Given the description of an element on the screen output the (x, y) to click on. 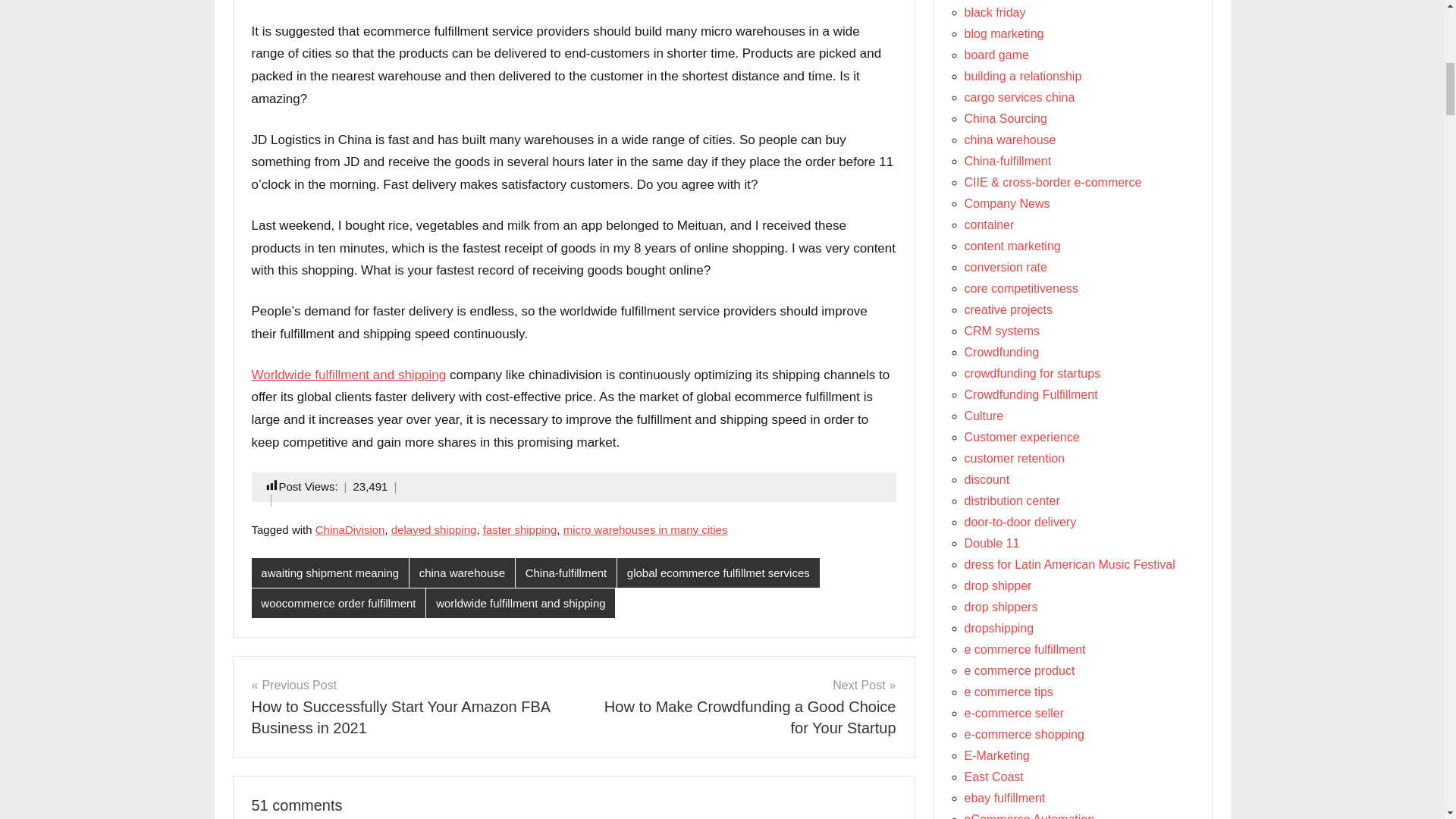
ChinaDivision (350, 529)
woocommerce order fulfillment (338, 603)
worldwide fulfillment and shipping (520, 603)
global ecommerce fulfillmet services (718, 572)
Worldwide fulfillment and shipping (348, 374)
delayed shipping (434, 529)
faster shipping (520, 529)
micro warehouses in many cities (645, 529)
china warehouse (462, 572)
awaiting shipment meaning (330, 572)
China-fulfillment (565, 572)
